Given the description of an element on the screen output the (x, y) to click on. 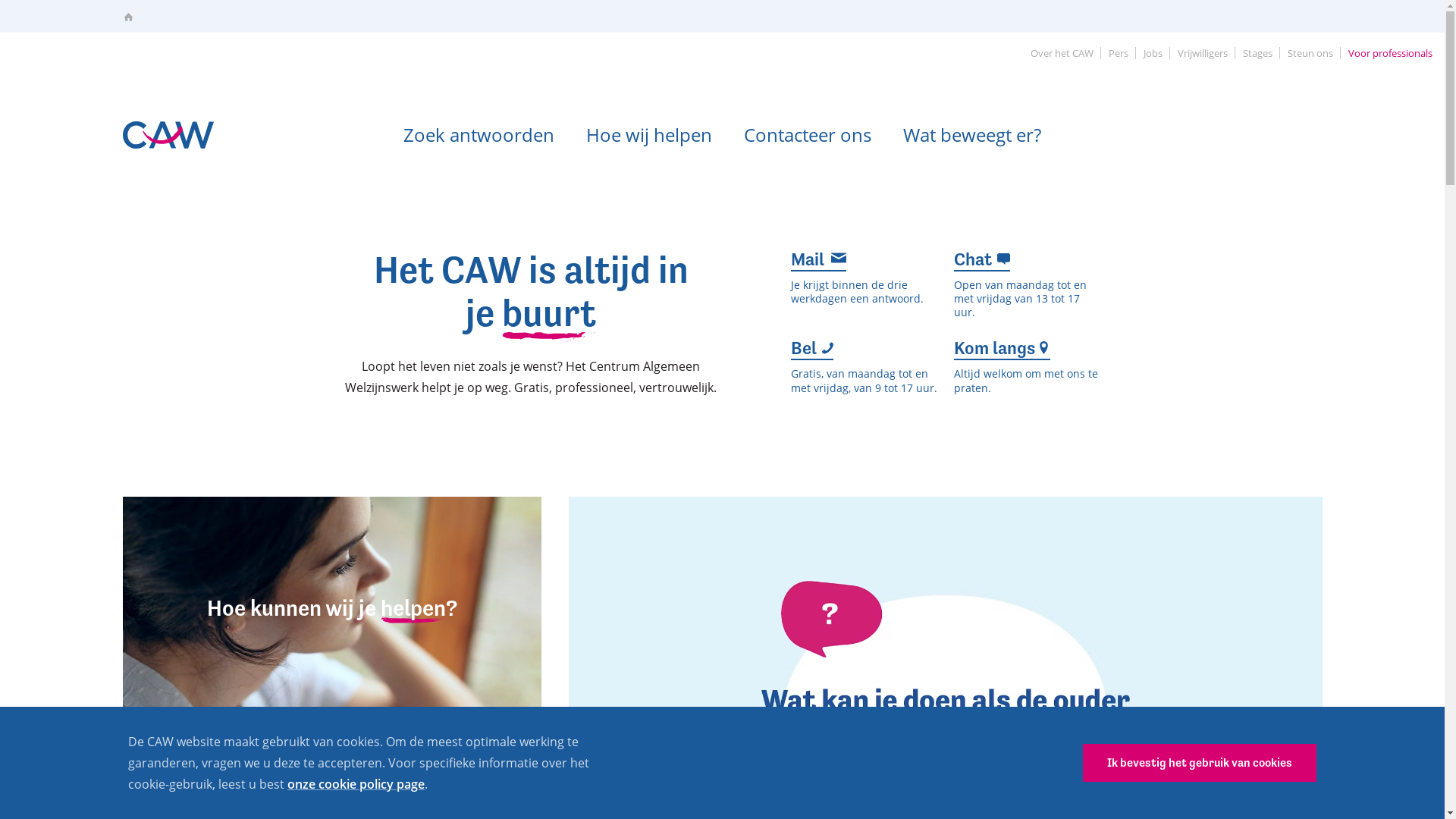
Chat
Open van maandag tot en met vrijdag van 13 tot 17 uur. Element type: text (1027, 285)
Pers Element type: text (1118, 53)
Steun ons Element type: text (1310, 53)
onze cookie policy page Element type: text (355, 783)
Zoek antwoorden Element type: text (478, 134)
Hoe wij helpen Element type: text (648, 134)
Voor professionals Element type: text (1390, 53)
Hoe kunnen wij je helpen? Element type: text (331, 607)
Wat beweegt er? Element type: text (971, 134)
Kom langs
Altijd welkom om met ons te praten. Element type: text (1027, 367)
Vrijwilligers Element type: text (1202, 53)
Stages Element type: text (1257, 53)
Over het CAW Element type: text (1061, 53)
Ik bevestig het gebruik van cookies Element type: text (1199, 762)
Contacteer ons Element type: text (807, 134)
Jobs Element type: text (1152, 53)
Mail
Je krijgt binnen de drie werkdagen een antwoord. Element type: text (864, 285)
Startpagina Element type: hover (127, 16)
